Given the description of an element on the screen output the (x, y) to click on. 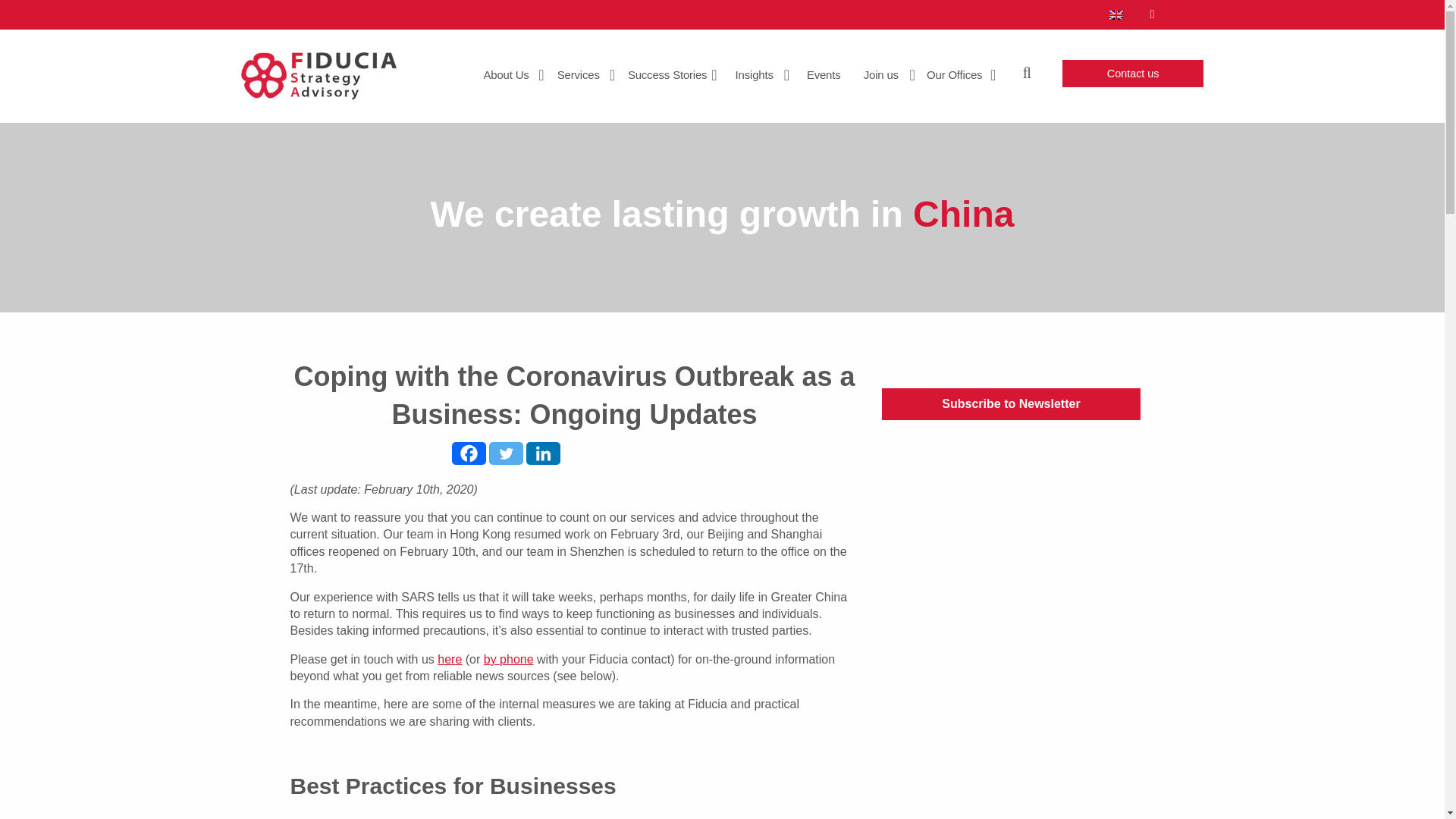
Success Stories (674, 74)
Contact us (1133, 72)
Facebook (468, 453)
Insights (760, 74)
Services (585, 74)
Our Offices (960, 74)
Events (830, 74)
Twitter (505, 453)
Fiducia Strategy Advisory (318, 74)
Linkedin (542, 453)
Join us (887, 74)
About Us (513, 74)
by phone (508, 658)
here (449, 658)
